Given the description of an element on the screen output the (x, y) to click on. 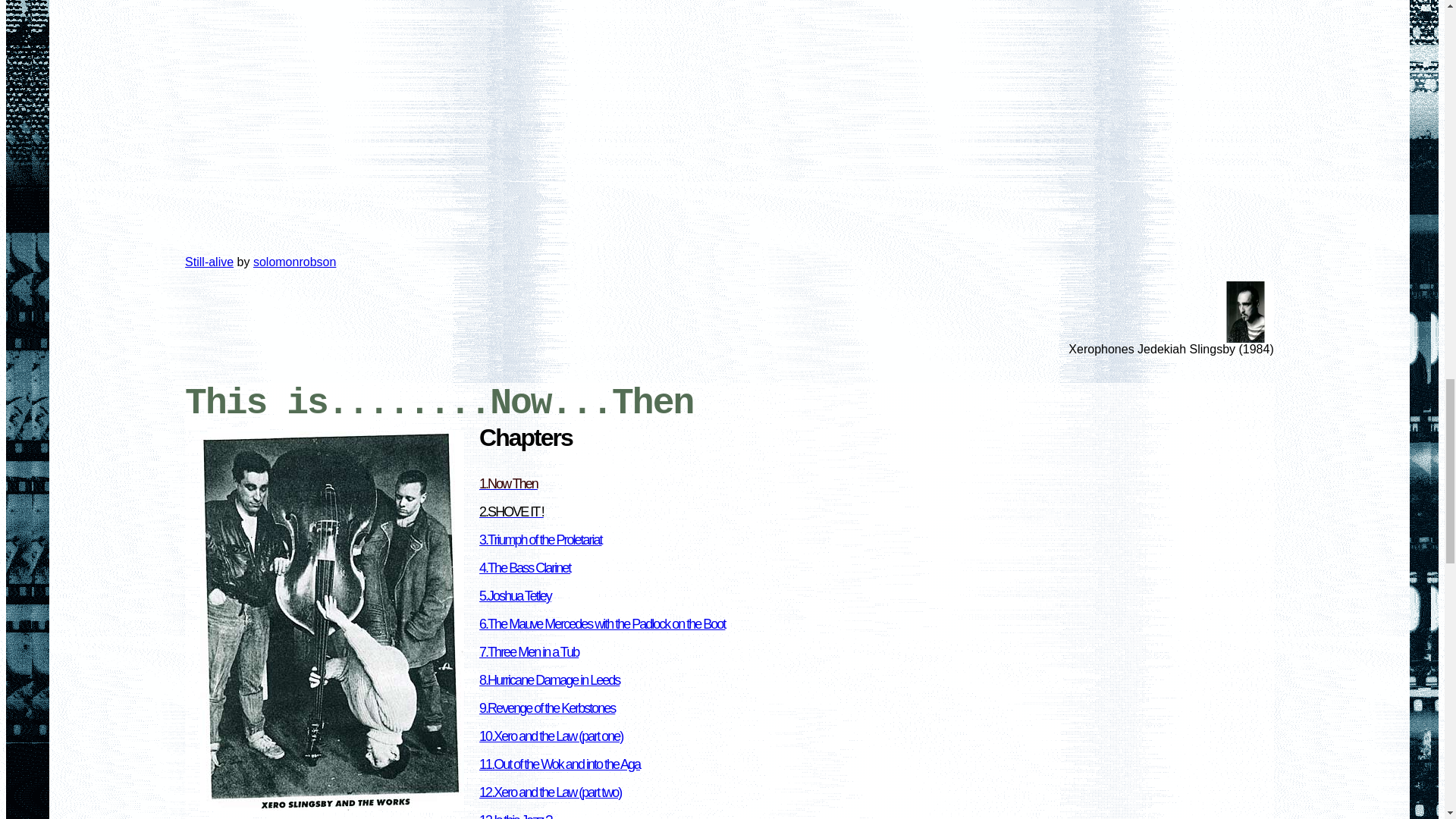
Still-alive (208, 261)
6.The Mauve Mercedes with the Padlock on the Boot (602, 623)
9.Revenge of the Kerbstones (546, 708)
7.Three Men in a Tub (528, 652)
4.The Bass Clarinet (524, 567)
solomonrobson (294, 261)
8.Hurricane Damage in Leeds (549, 679)
13.Is this Jazz ? (515, 816)
3.Triumph of the Proletariat (540, 539)
5.Joshua Tetley (515, 595)
1.Now Then (508, 483)
11.Out of the Wok and into the Aga (559, 764)
2.SHOVE IT ! (511, 511)
